Given the description of an element on the screen output the (x, y) to click on. 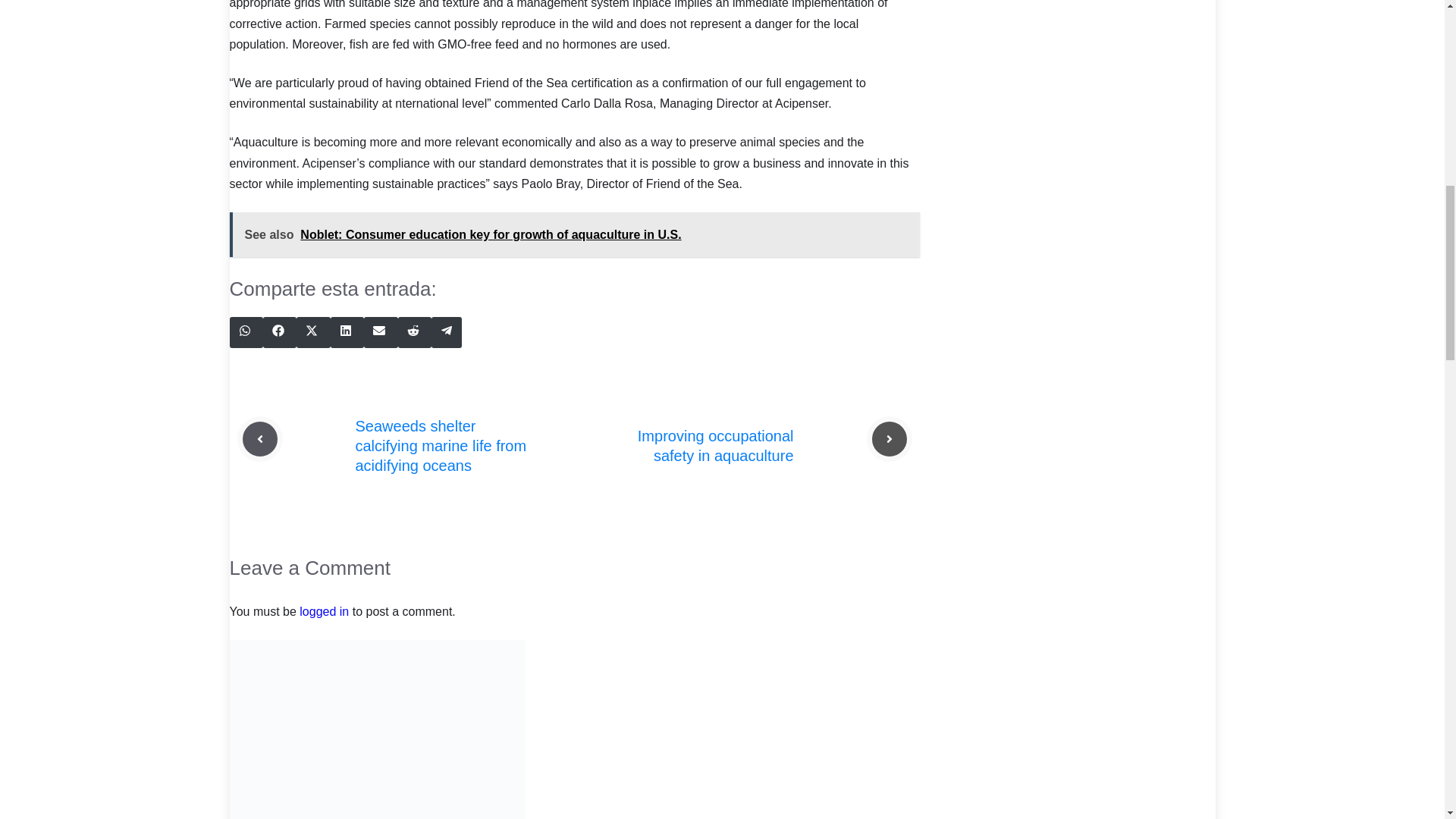
Share on Facebook (280, 332)
Share on Reddit (413, 332)
Share on Email (380, 332)
Share on Telegram (445, 332)
Scroll back to top (1406, 720)
logged in (324, 611)
Improving occupational safety in aquaculture (715, 445)
Share on LinkedIn (347, 332)
